Given the description of an element on the screen output the (x, y) to click on. 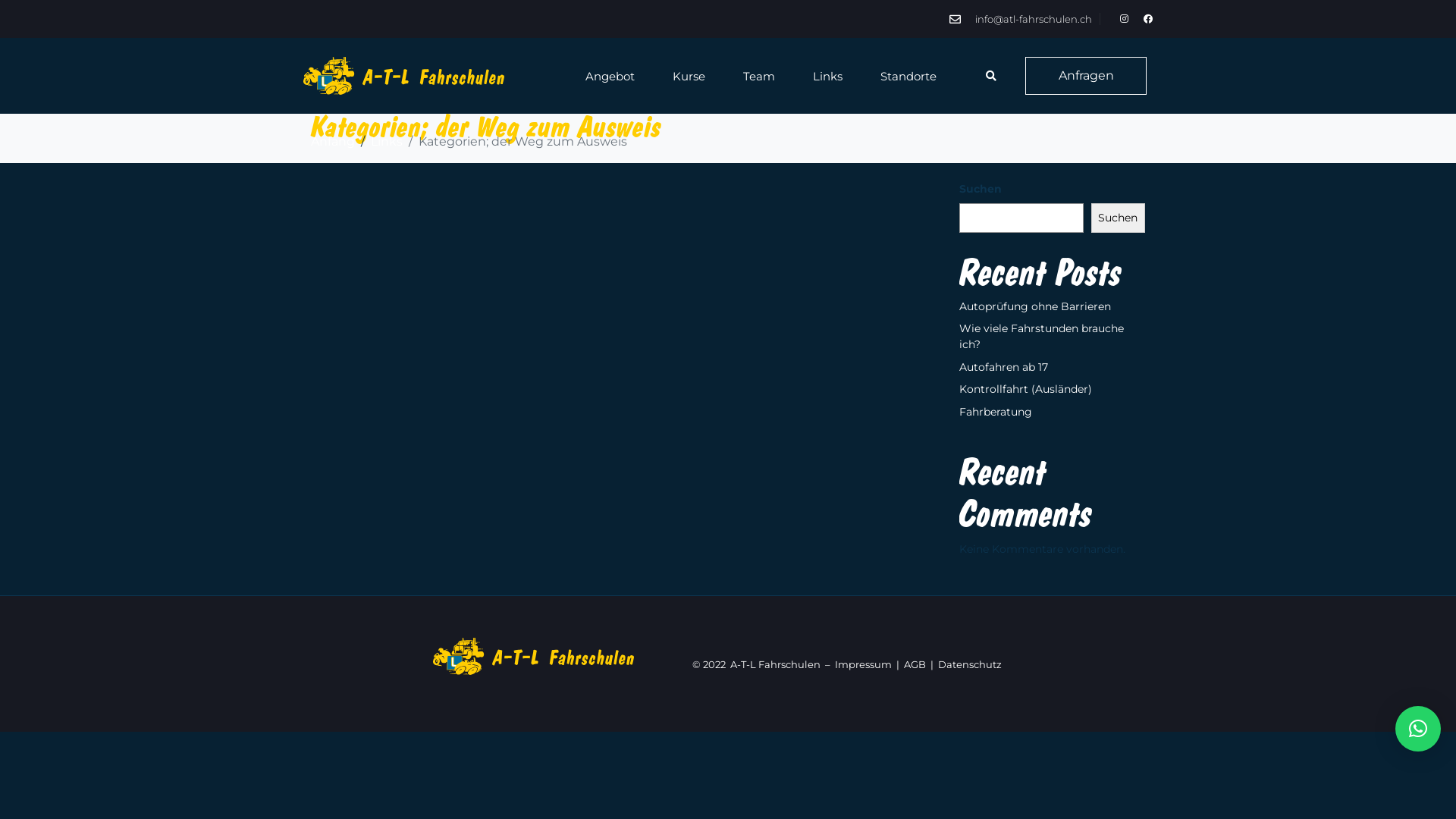
Autofahren ab 17 Element type: text (1003, 366)
Kurse Element type: text (688, 75)
Anfragen Element type: text (1085, 75)
Fahrberatung Element type: text (995, 411)
info@atl-fahrschulen.ch Element type: text (1020, 19)
Links Element type: text (827, 75)
Links Element type: text (386, 141)
Team Element type: text (759, 75)
Standorte Element type: text (908, 75)
Anfang Element type: text (332, 141)
Suchen Element type: text (1117, 217)
Angebot Element type: text (609, 75)
Impressum Element type: text (862, 664)
Wie viele Fahrstunden brauche ich? Element type: text (1041, 336)
AGB Element type: text (914, 664)
Datenschutz Element type: text (969, 664)
